Given the description of an element on the screen output the (x, y) to click on. 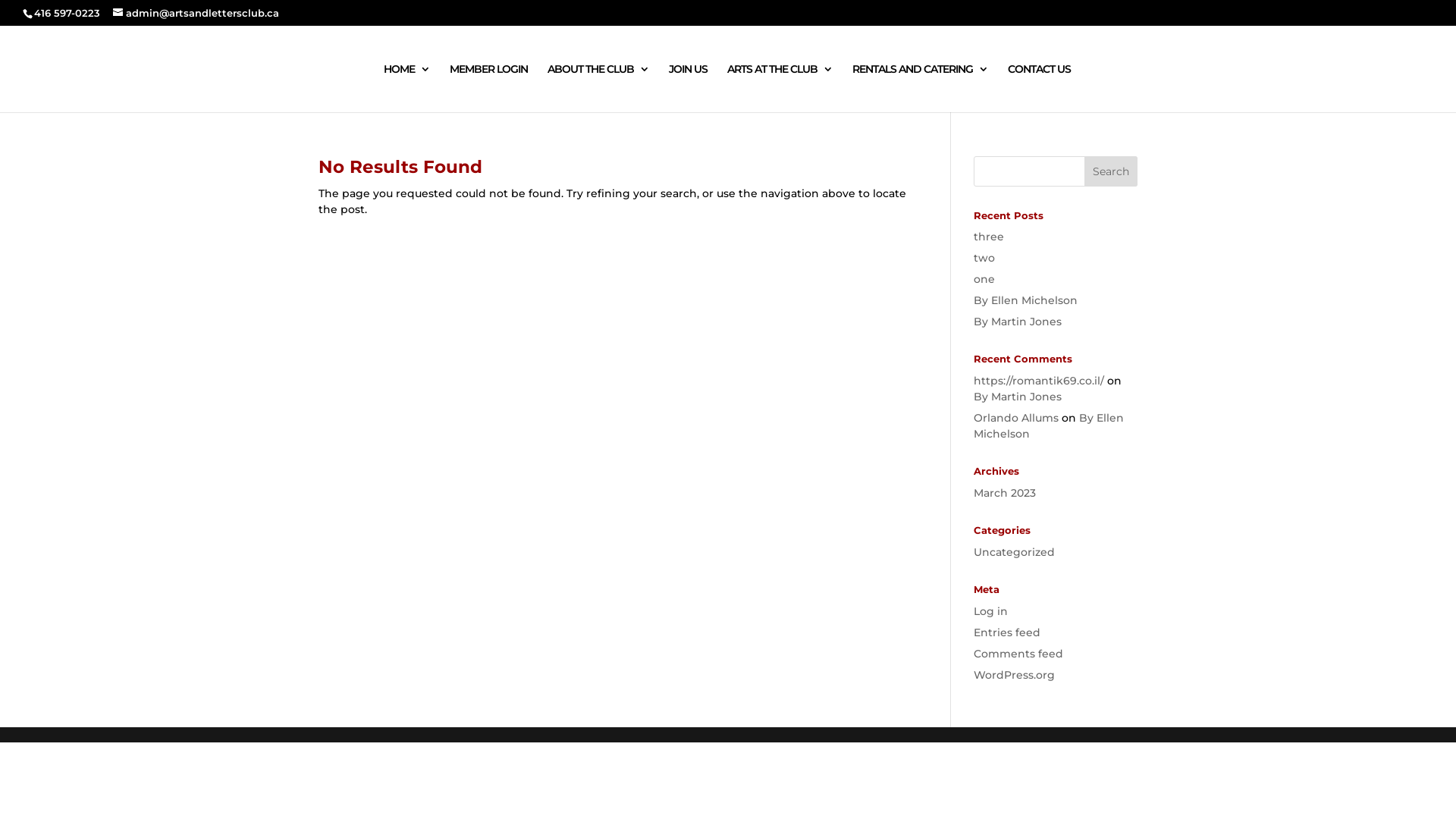
By Ellen Michelson Element type: text (1048, 425)
Log in Element type: text (990, 611)
By Martin Jones Element type: text (1017, 321)
RENTALS AND CATERING Element type: text (920, 87)
one Element type: text (983, 278)
By Martin Jones Element type: text (1017, 396)
March 2023 Element type: text (1004, 492)
two Element type: text (983, 257)
Search Element type: text (1110, 171)
Uncategorized Element type: text (1013, 551)
HOME Element type: text (406, 87)
JOIN US Element type: text (687, 87)
three Element type: text (988, 236)
admin@artsandlettersclub.ca Element type: text (195, 12)
CONTACT US Element type: text (1038, 87)
https://romantik69.co.il/ Element type: text (1038, 380)
Comments feed Element type: text (1018, 653)
MEMBER LOGIN Element type: text (488, 87)
Orlando Allums Element type: text (1015, 417)
By Ellen Michelson Element type: text (1025, 300)
Entries feed Element type: text (1006, 632)
WordPress.org Element type: text (1013, 674)
ABOUT THE CLUB Element type: text (598, 87)
ARTS AT THE CLUB Element type: text (779, 87)
